Given the description of an element on the screen output the (x, y) to click on. 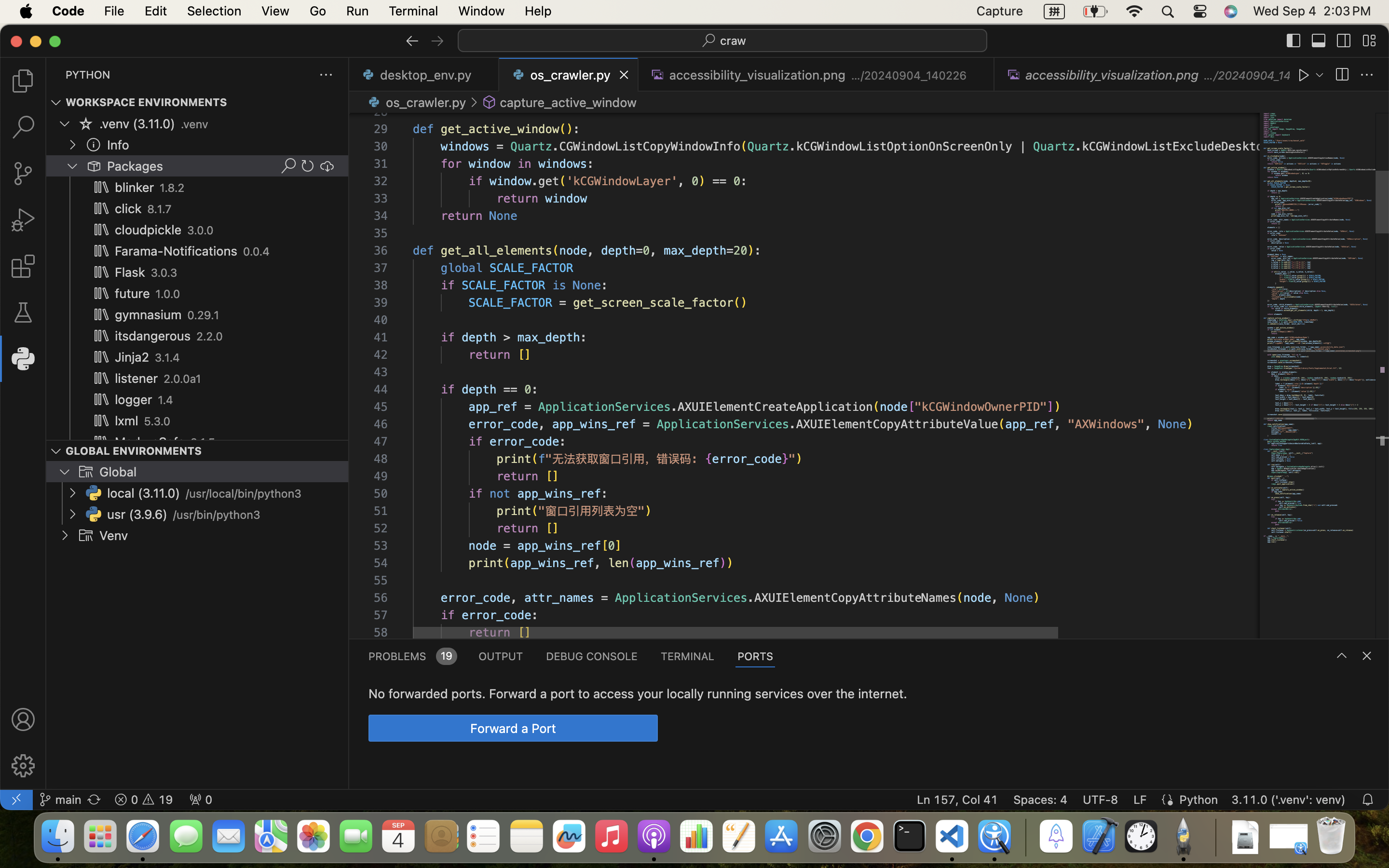
0 OUTPUT Element type: AXRadioButton (500, 655)
listener Element type: AXStaticText (136, 378)
 Element type: AXStaticText (1366, 74)
capture_active_window Element type: AXGroup (567, 101)
gymnasium Element type: AXStaticText (148, 314)
